Given the description of an element on the screen output the (x, y) to click on. 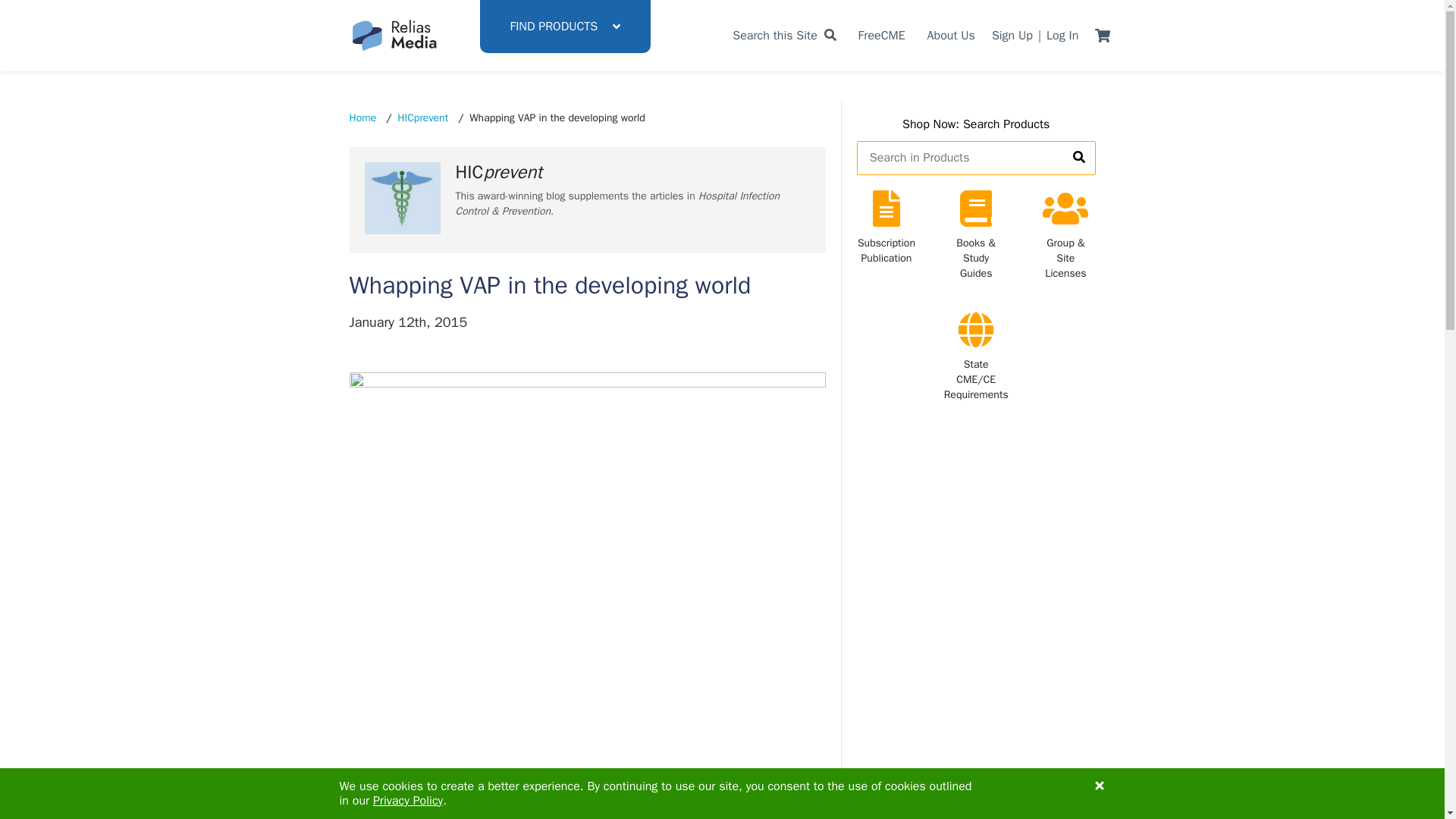
Search this Site (783, 35)
HICprevent (422, 117)
FIND PRODUCTS (564, 26)
FreeCME (882, 35)
Home (362, 117)
Sign Up (1011, 35)
About Us (951, 35)
Log In (1062, 35)
